Given the description of an element on the screen output the (x, y) to click on. 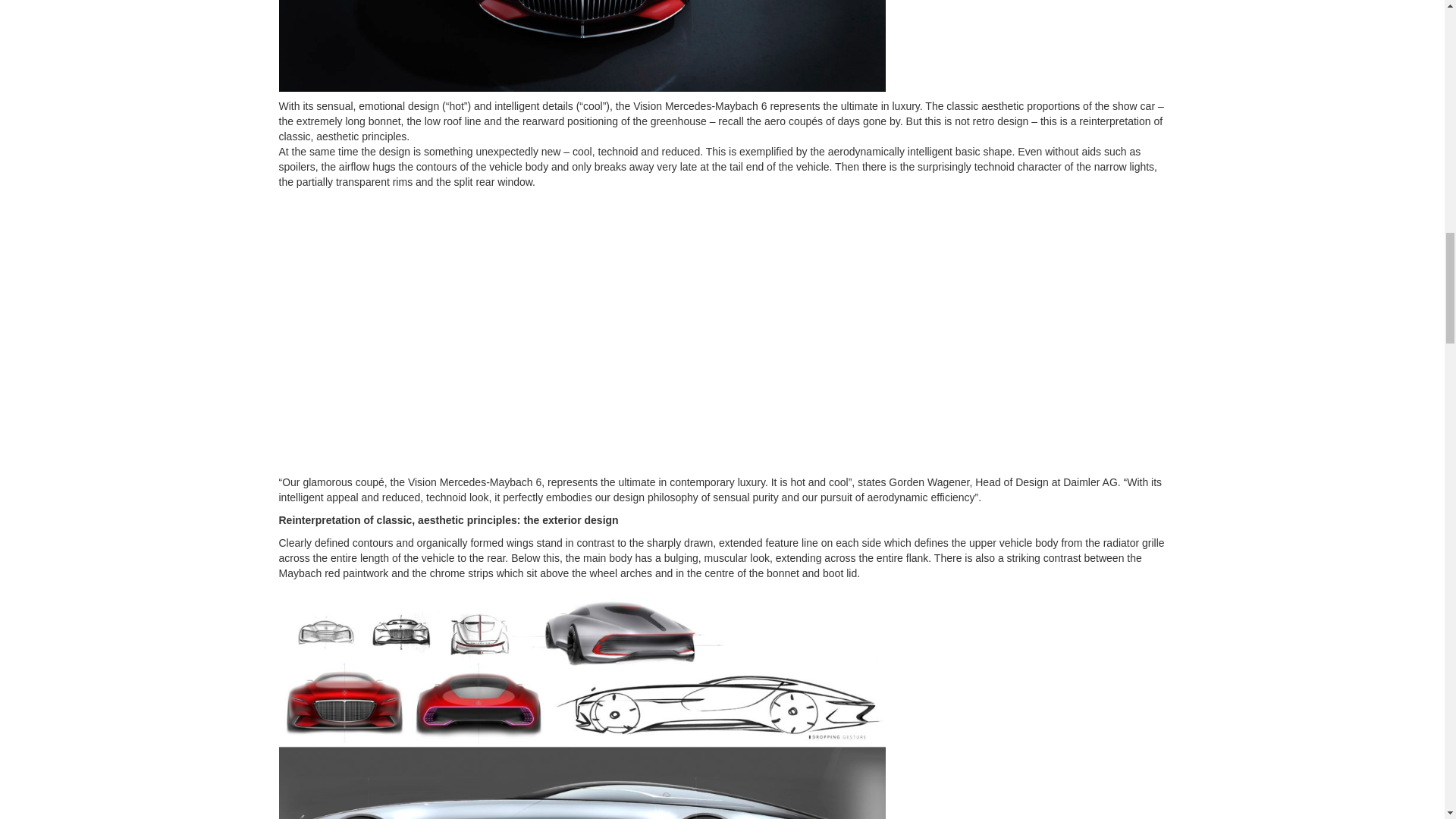
Vision Mercedes-Maybach 6 trailer (521, 334)
